Given the description of an element on the screen output the (x, y) to click on. 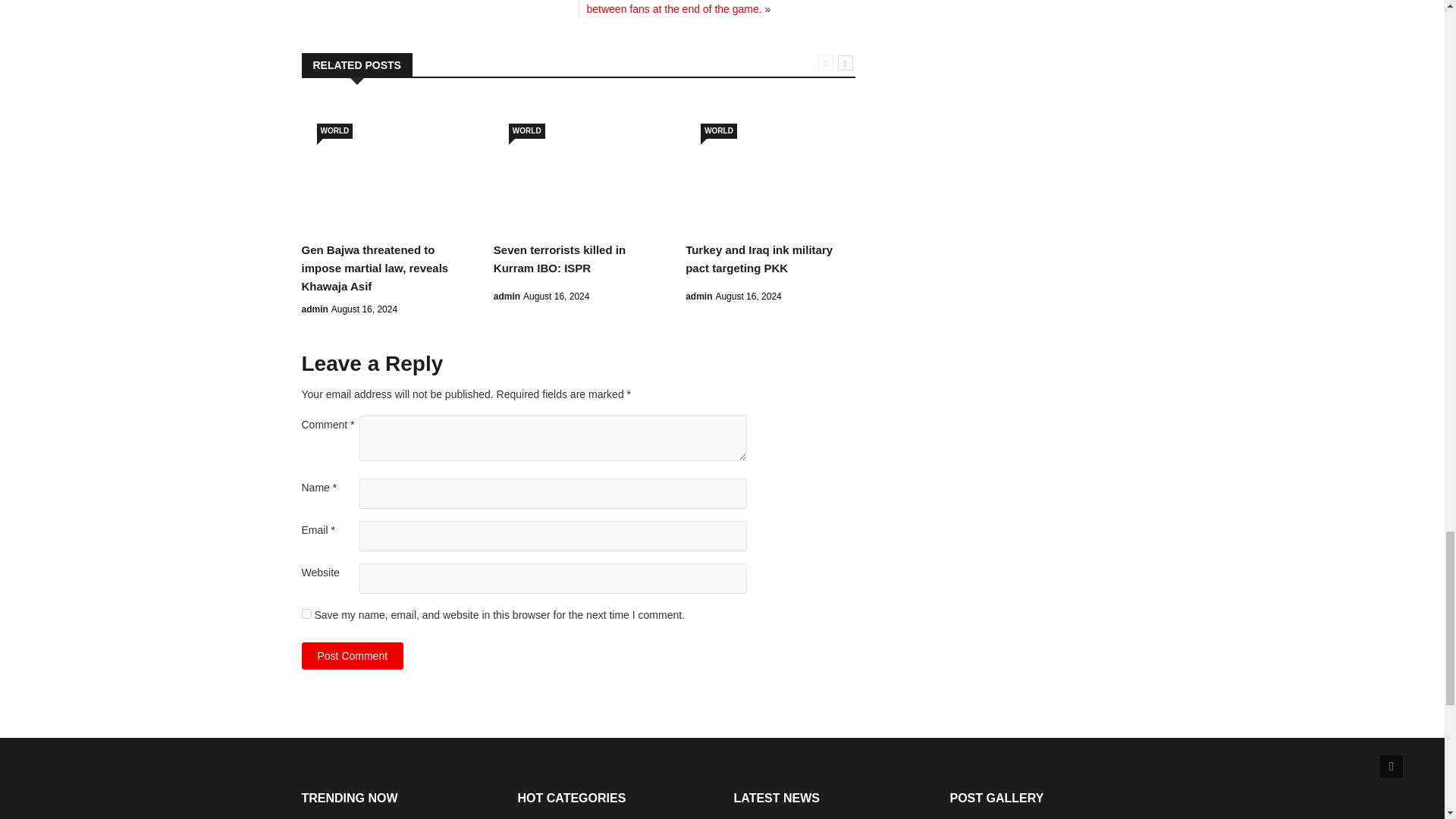
admin (315, 308)
yes (306, 614)
WORLD (526, 130)
WORLD (335, 130)
Post Comment (352, 655)
WORLD (718, 130)
Seven terrorists killed in Kurram IBO: ISPR (559, 258)
Turkey and Iraq ink military pact targeting PKK (758, 258)
